Given the description of an element on the screen output the (x, y) to click on. 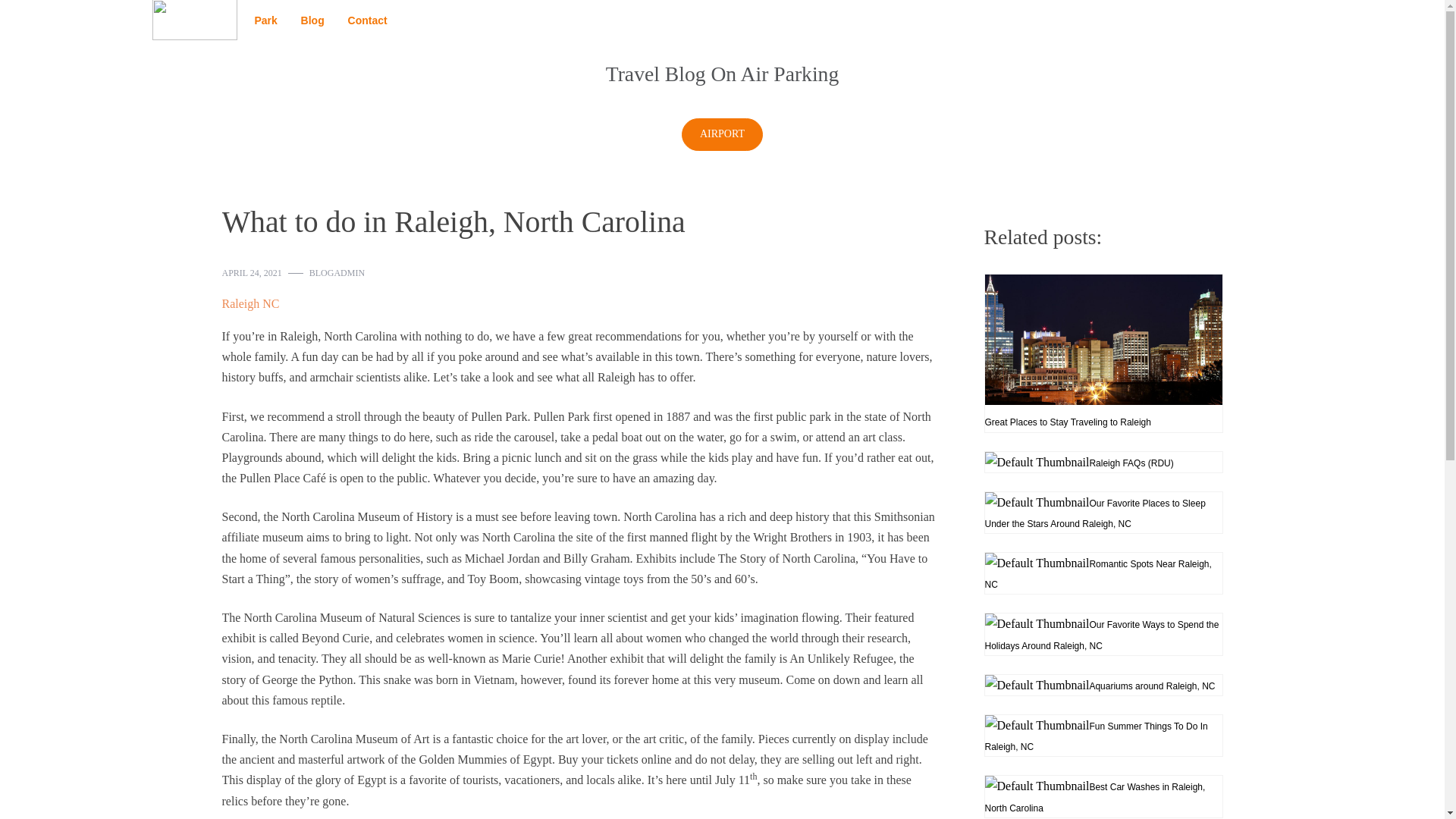
Contact (367, 20)
Great Places to Stay Traveling to Raleigh (1103, 353)
APRIL 24, 2021 (251, 272)
Blog (312, 20)
AIRPORT (722, 134)
Best Car Washes in Raleigh, North Carolina (1103, 795)
BLOGADMIN (336, 272)
Park (264, 20)
Raleigh NC (250, 303)
